Given the description of an element on the screen output the (x, y) to click on. 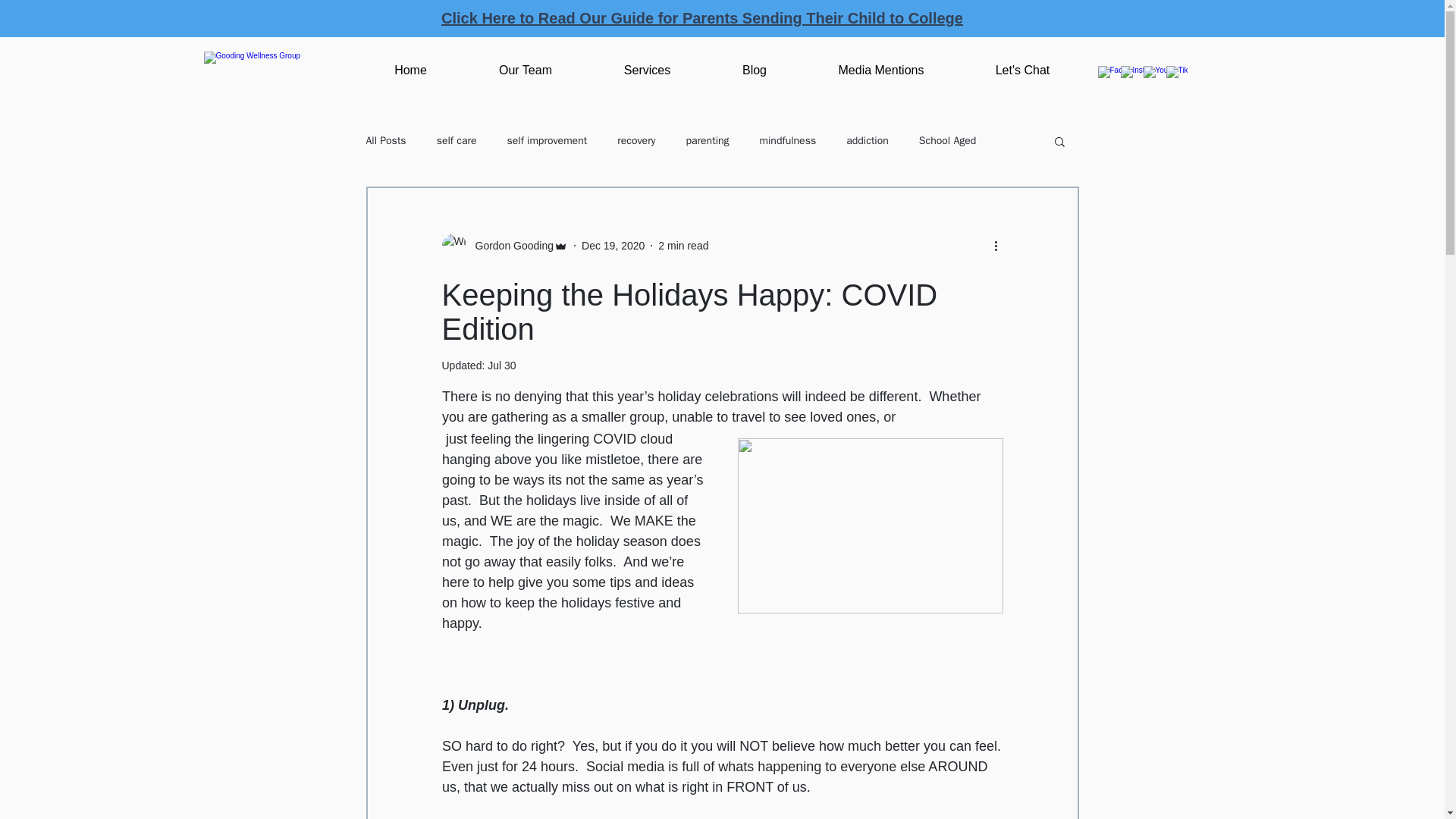
2 min read (682, 245)
Gordon Gooding (509, 245)
Blog (754, 69)
Jul 30 (501, 365)
mindfulness (788, 141)
recovery (636, 141)
Our Team (525, 69)
Home (410, 69)
Let's Chat (1022, 69)
